Given the description of an element on the screen output the (x, y) to click on. 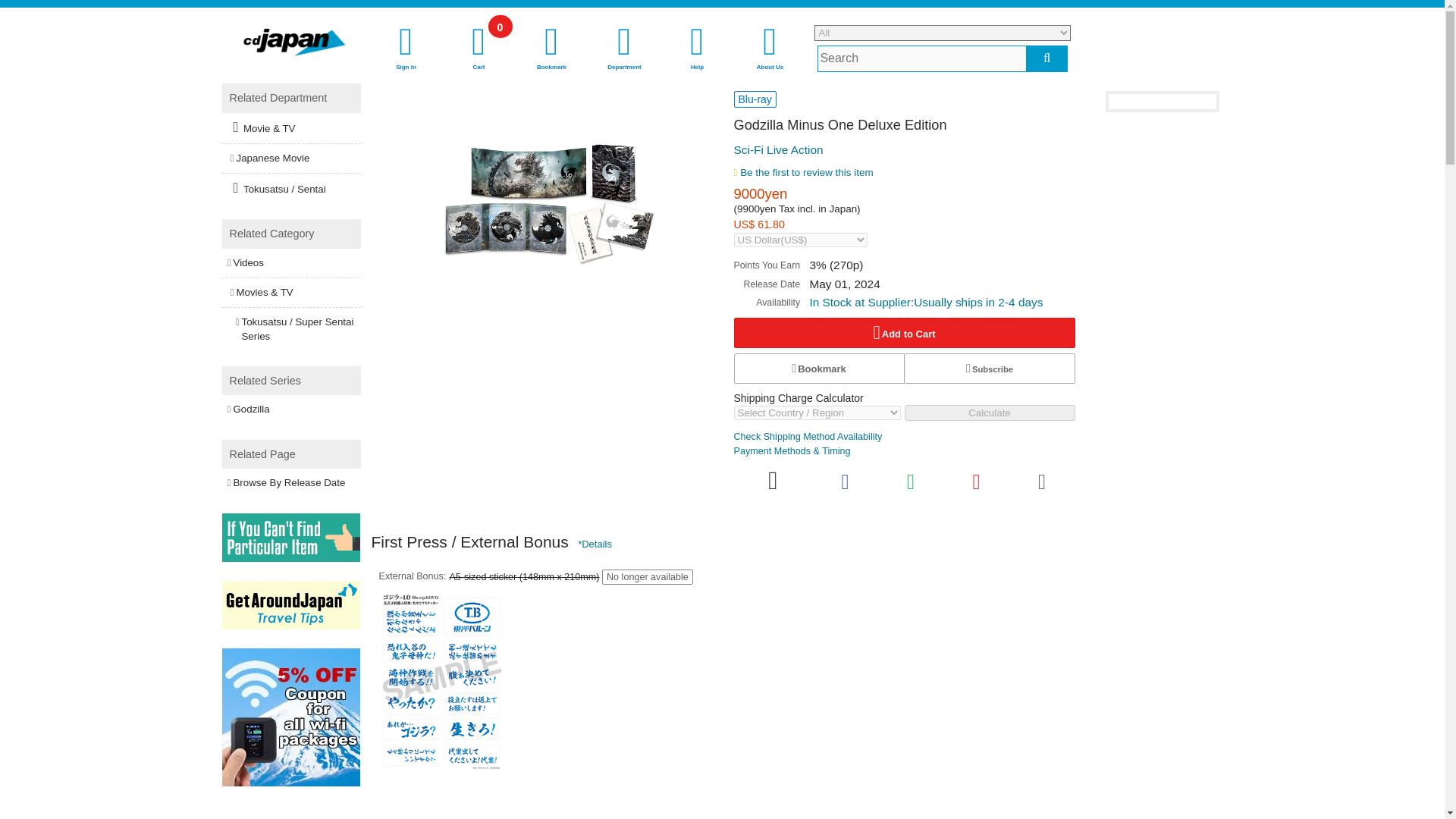
In Stock at Supplier:Usually ships in 2-4 days (925, 301)
Subscribe (478, 48)
Help (989, 368)
Check Shipping Method Availability (697, 48)
Add to Cart (807, 436)
About Us (904, 332)
Calculate (769, 48)
Sign In (989, 412)
Be the first to review this item (405, 48)
